Given the description of an element on the screen output the (x, y) to click on. 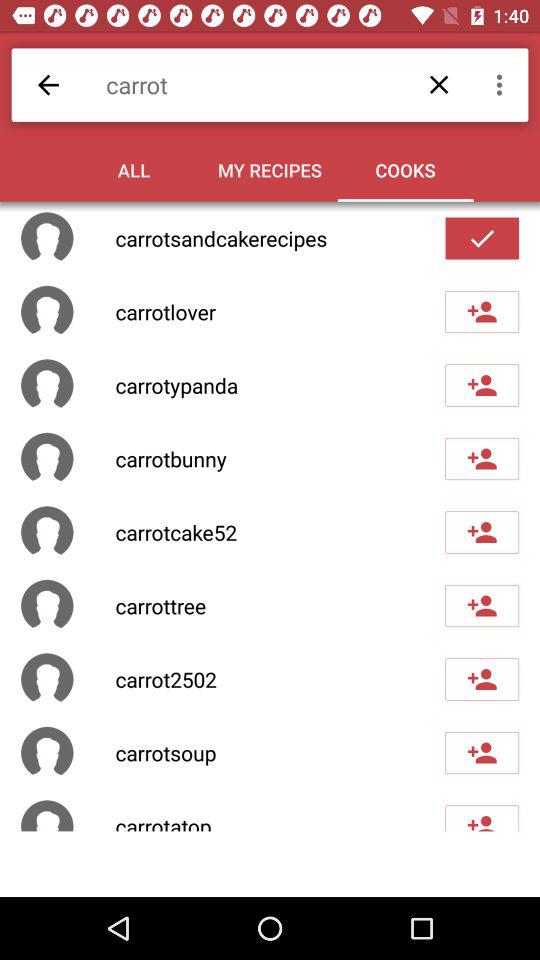
add friend (482, 385)
